Given the description of an element on the screen output the (x, y) to click on. 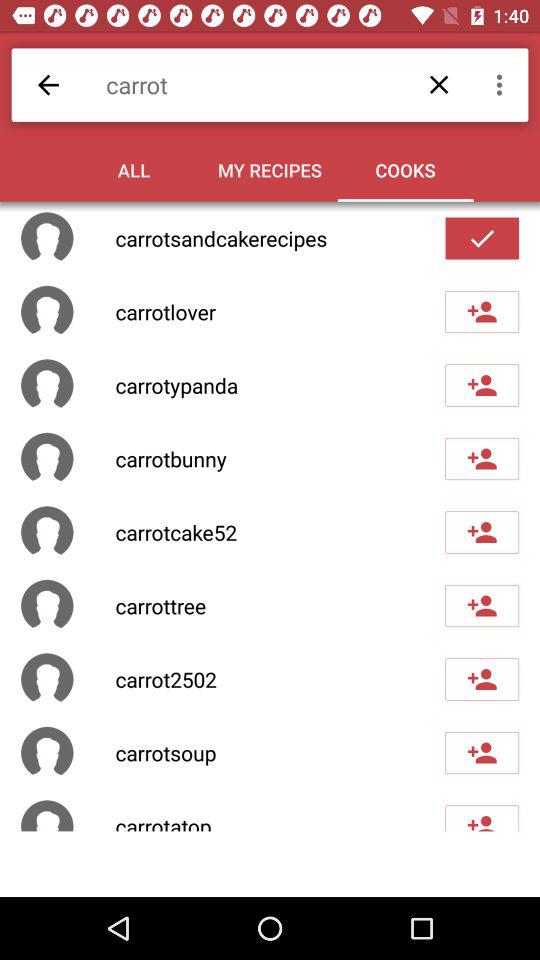
add friend (482, 385)
